Given the description of an element on the screen output the (x, y) to click on. 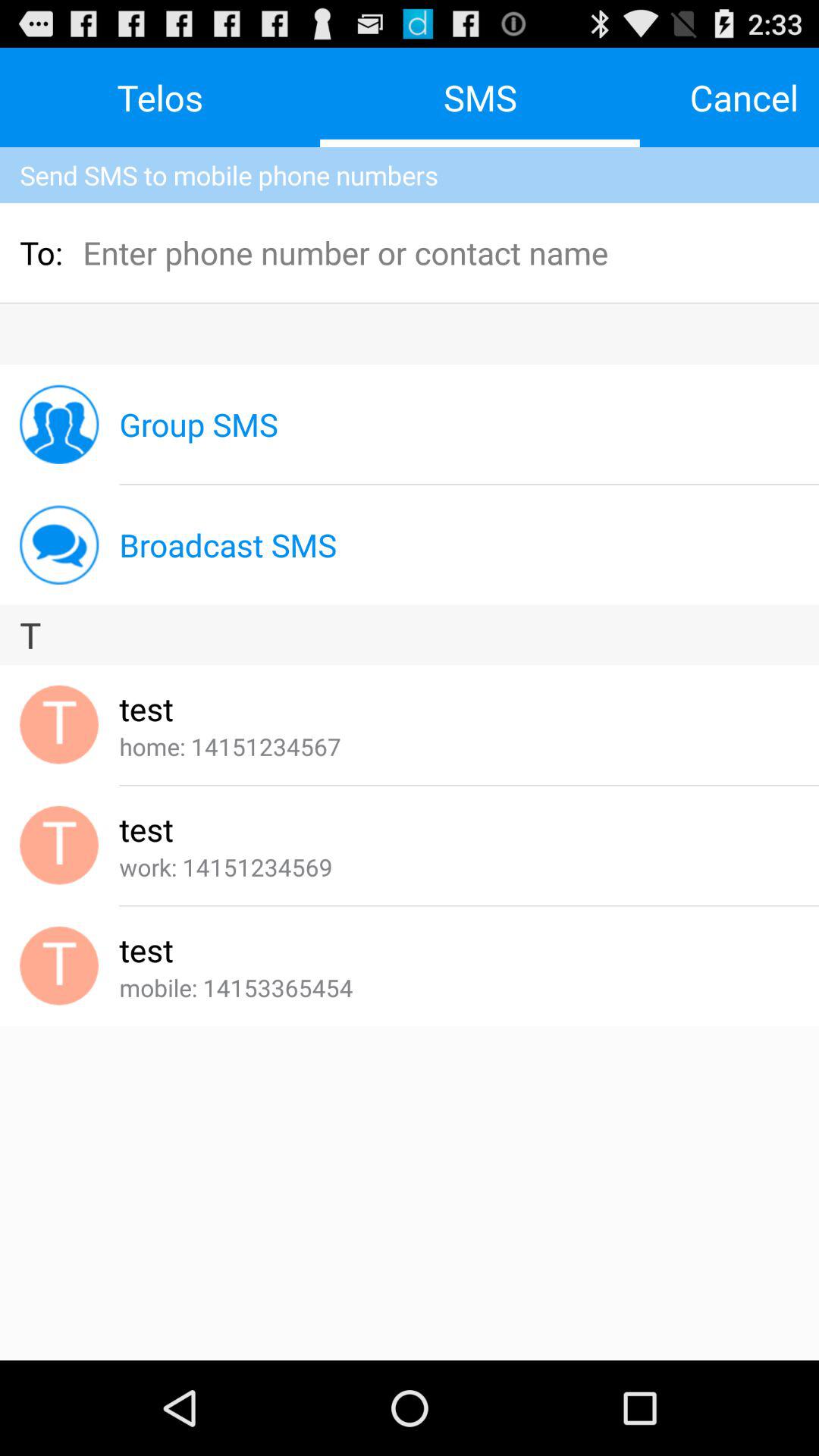
click group sms app (198, 423)
